Given the description of an element on the screen output the (x, y) to click on. 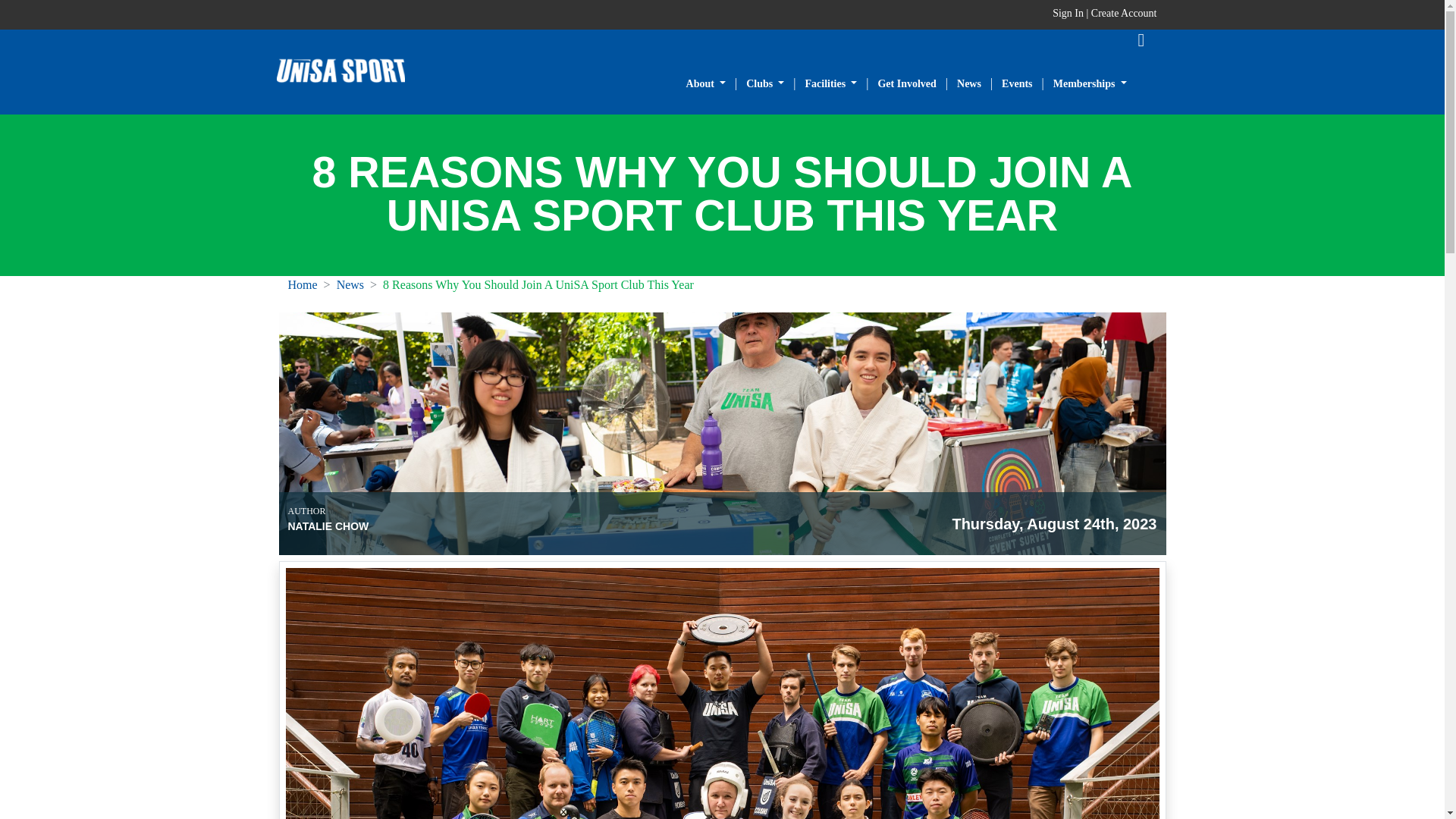
News (968, 85)
Sign In (1069, 12)
Events (1016, 85)
Facilities (831, 85)
About (705, 85)
Get Involved (906, 85)
Clubs (764, 85)
Memberships (1089, 85)
Create Account (1123, 12)
